Given the description of an element on the screen output the (x, y) to click on. 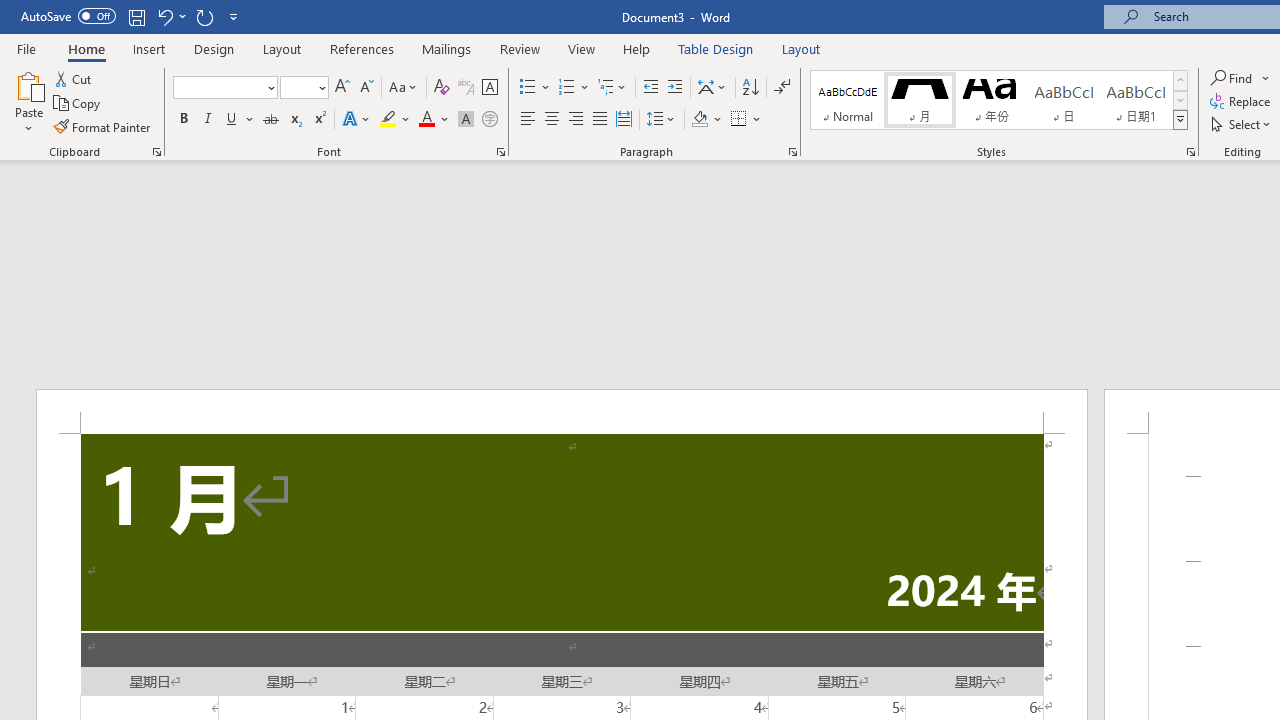
Repeat Style (204, 15)
